Given the description of an element on the screen output the (x, y) to click on. 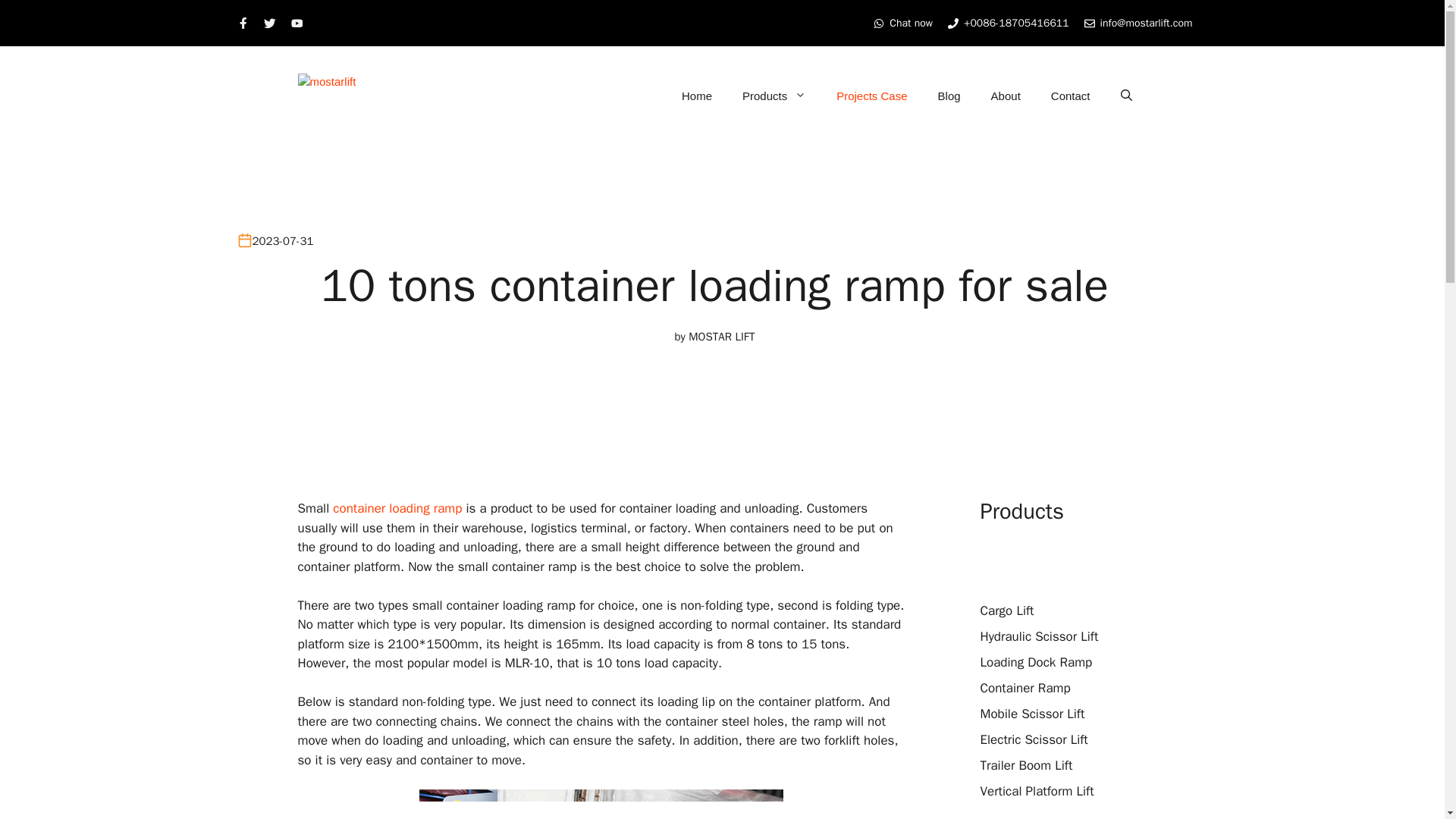
Vertical Platform Lift (1036, 790)
About (1005, 94)
Mobile Scissor Lift (1031, 713)
container loading ramp (397, 508)
Electric Scissor Lift (1033, 739)
Trailer Boom Lift (1025, 765)
Loading Dock Ramp (1035, 662)
Projects Case (871, 94)
Container Ramp (1024, 688)
Contact (1070, 94)
